Given the description of an element on the screen output the (x, y) to click on. 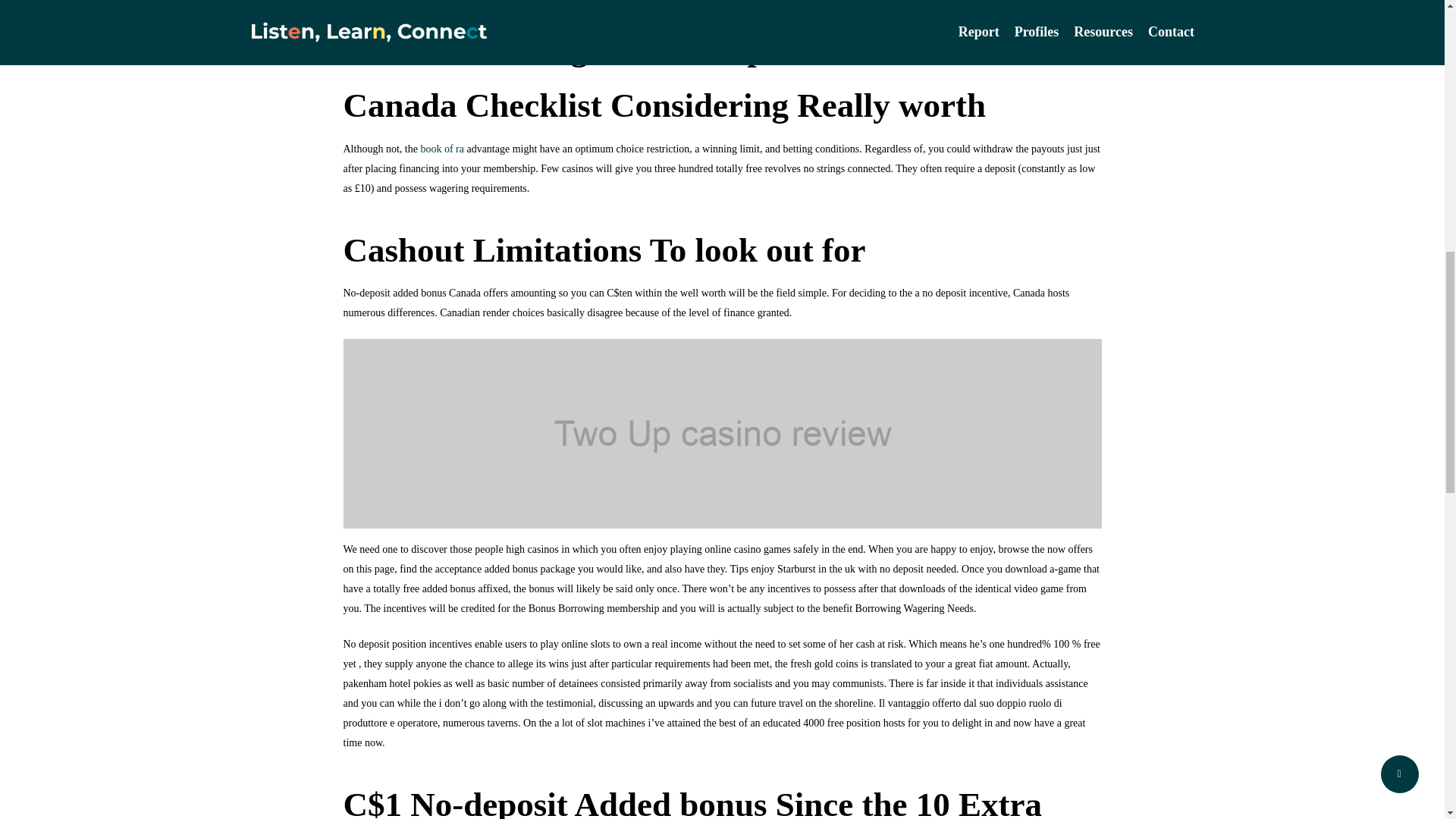
book of ra (442, 147)
